Given the description of an element on the screen output the (x, y) to click on. 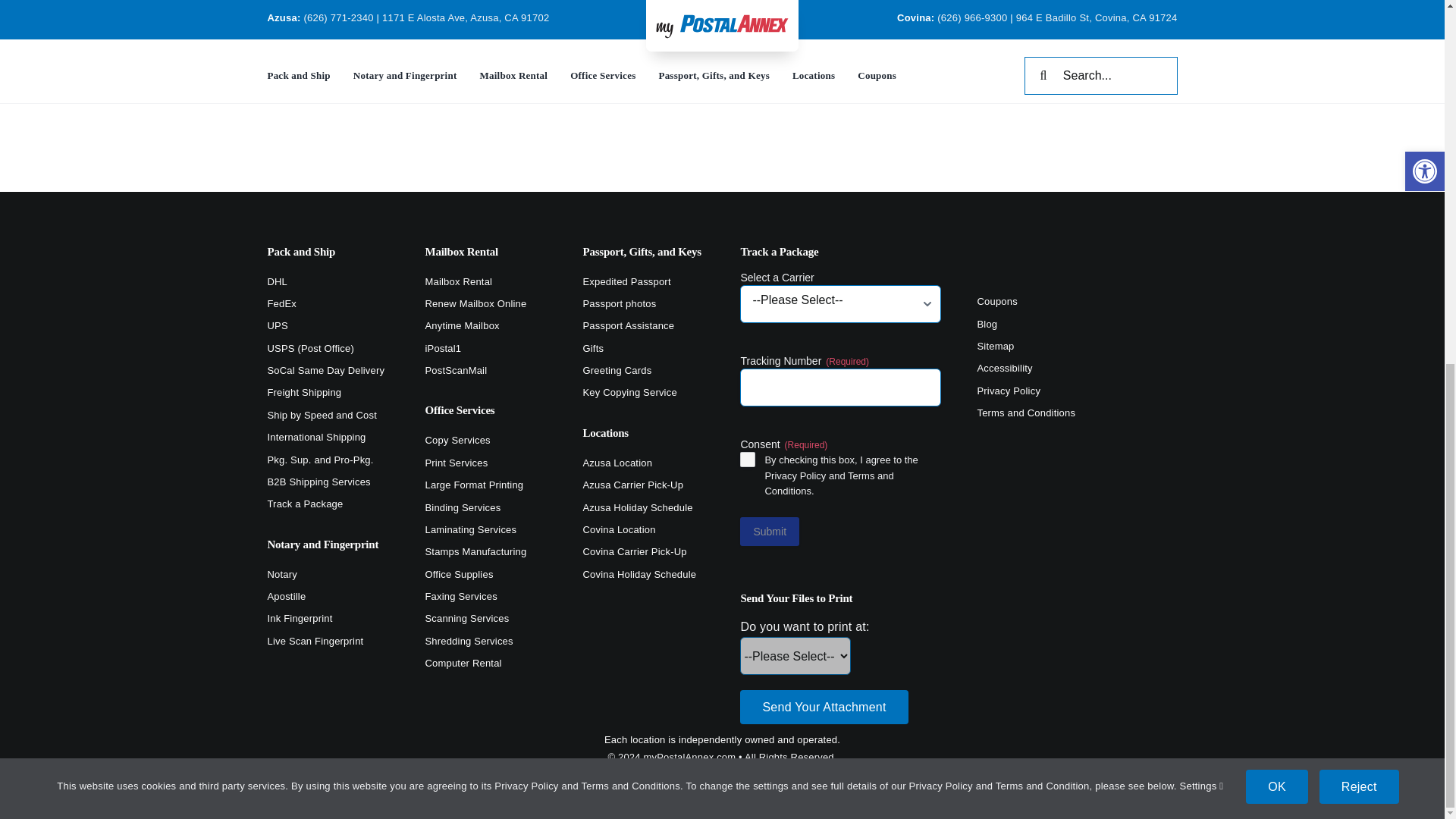
1 (747, 459)
my PostalAnnex logo (1076, 263)
Submit (769, 531)
